Given the description of an element on the screen output the (x, y) to click on. 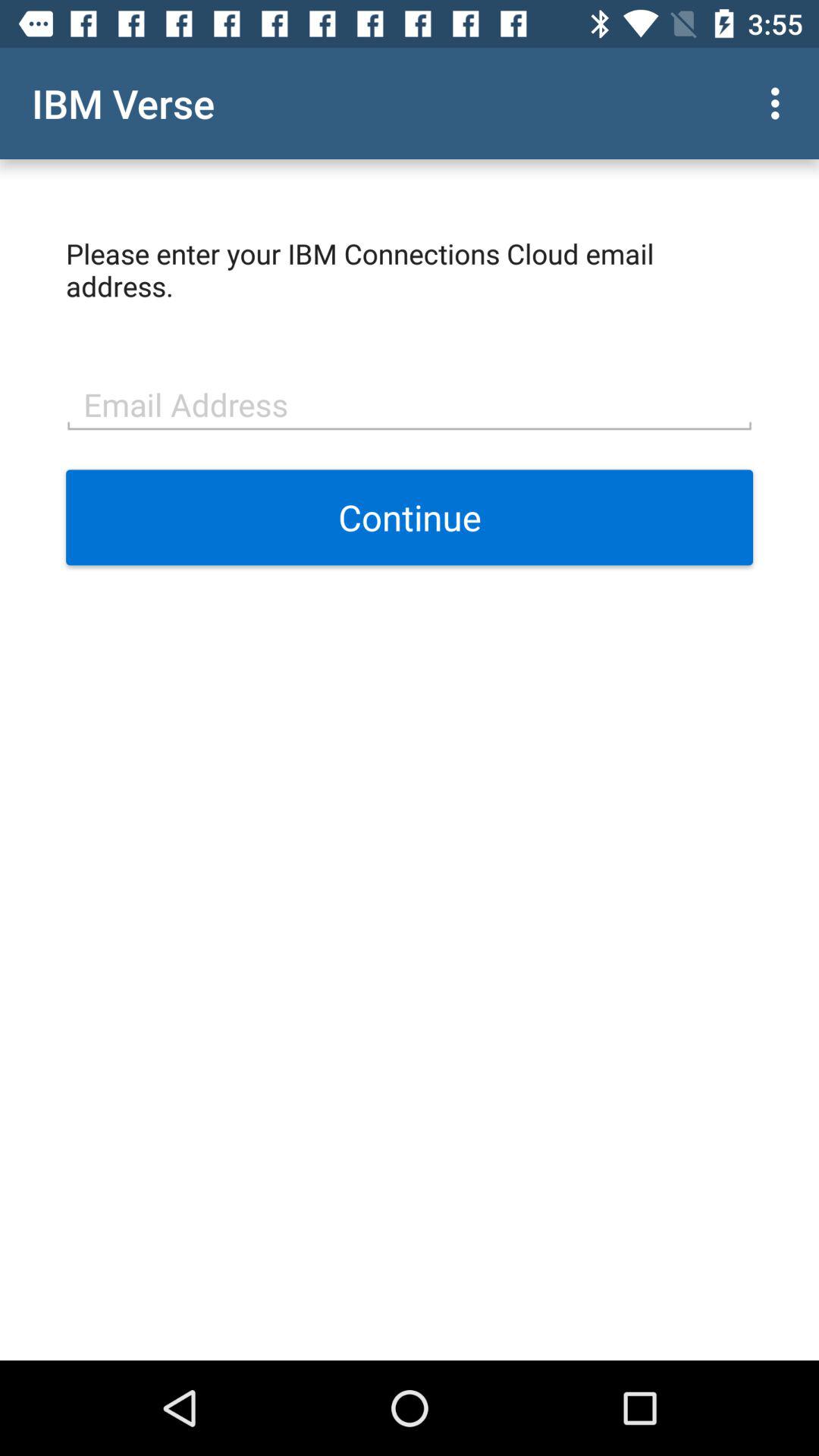
turn on the item to the right of the ibm verse icon (779, 103)
